Given the description of an element on the screen output the (x, y) to click on. 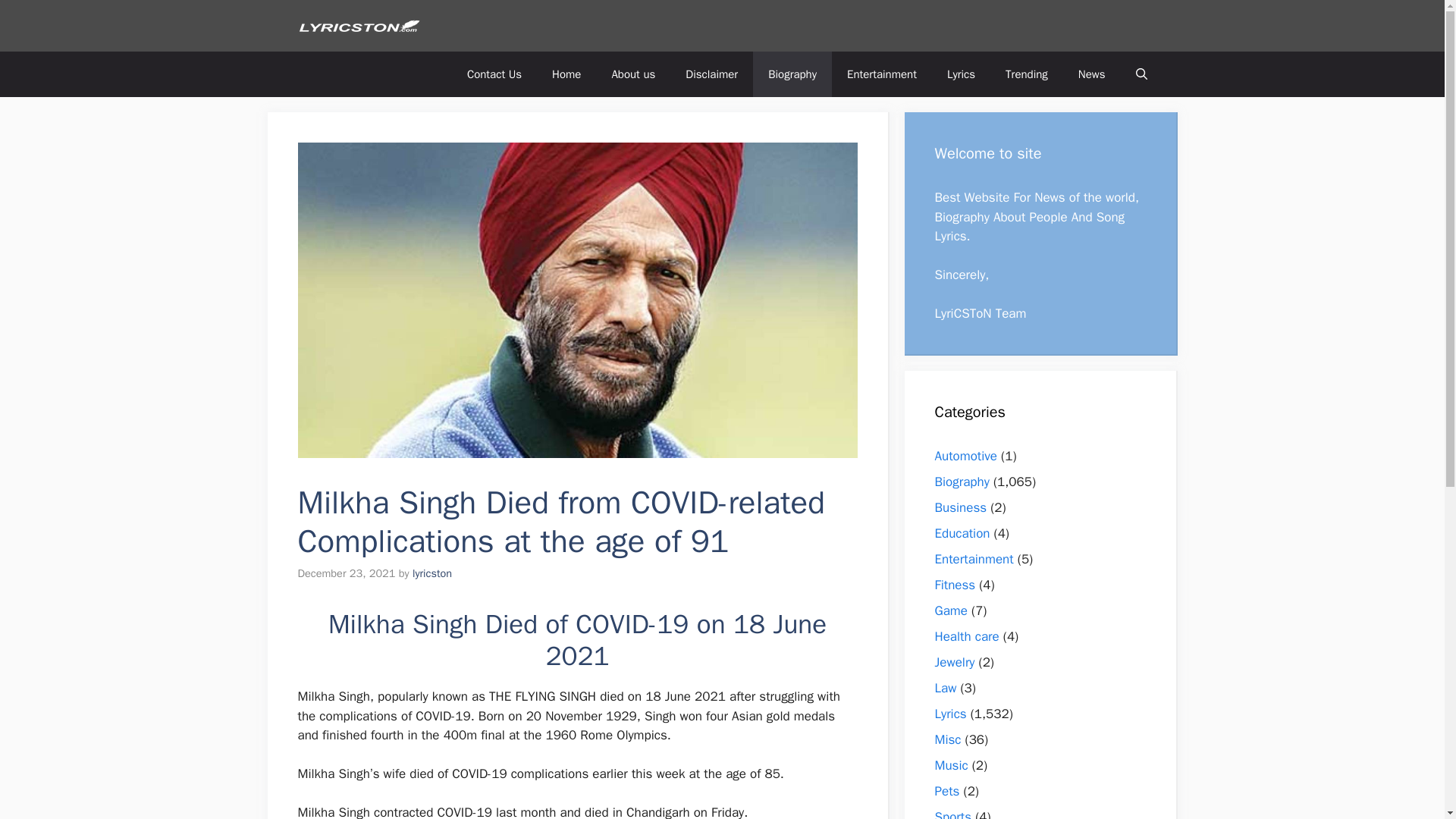
News (1091, 74)
Home (566, 74)
Contact Us (494, 74)
Entertainment (881, 74)
Biography (791, 74)
Disclaimer (710, 74)
lyricston (431, 572)
Trending (1026, 74)
View all posts by lyricston (431, 572)
About us (632, 74)
Lyrics (960, 74)
